Given the description of an element on the screen output the (x, y) to click on. 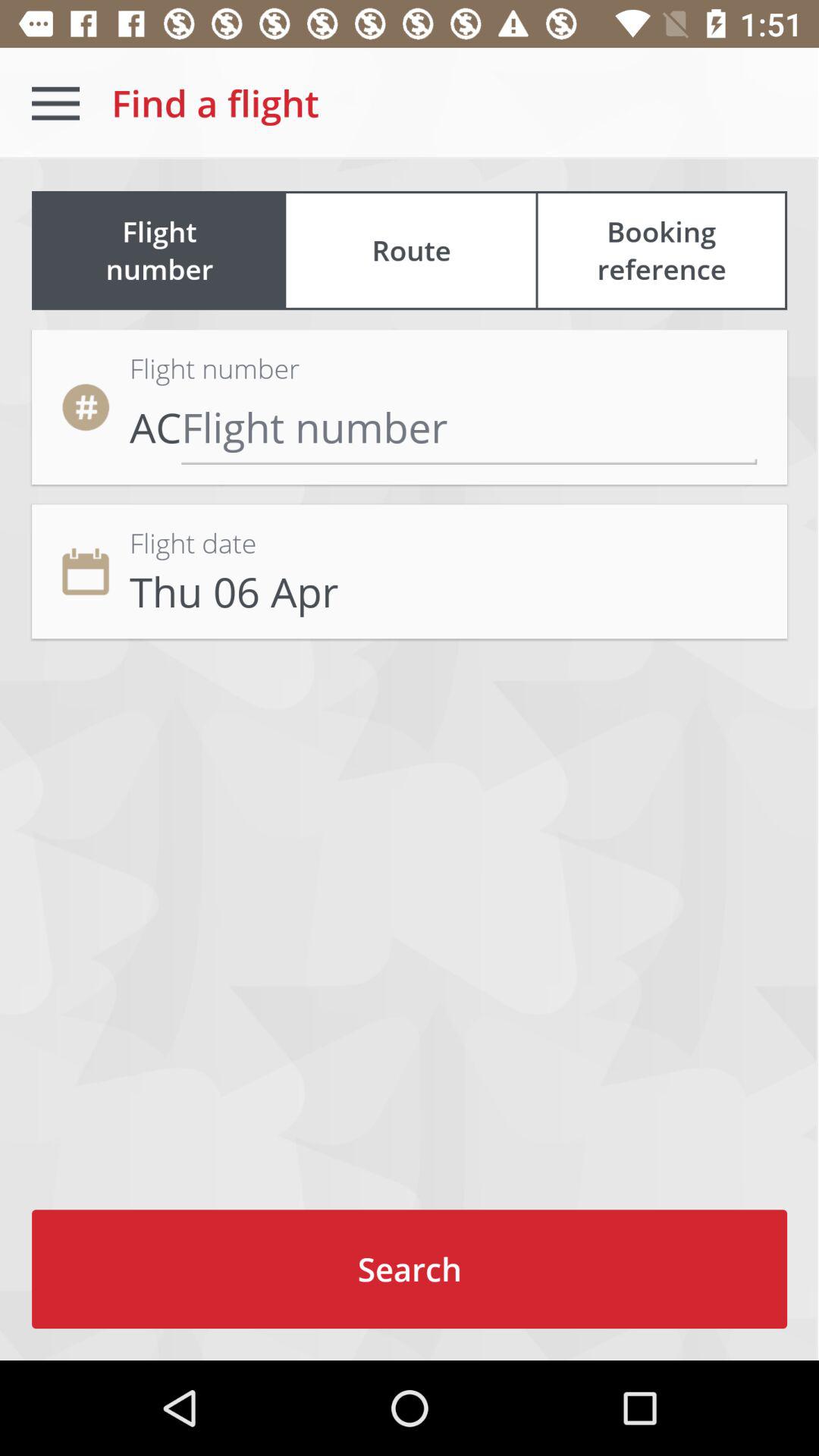
select item next to find a flight icon (55, 103)
